Given the description of an element on the screen output the (x, y) to click on. 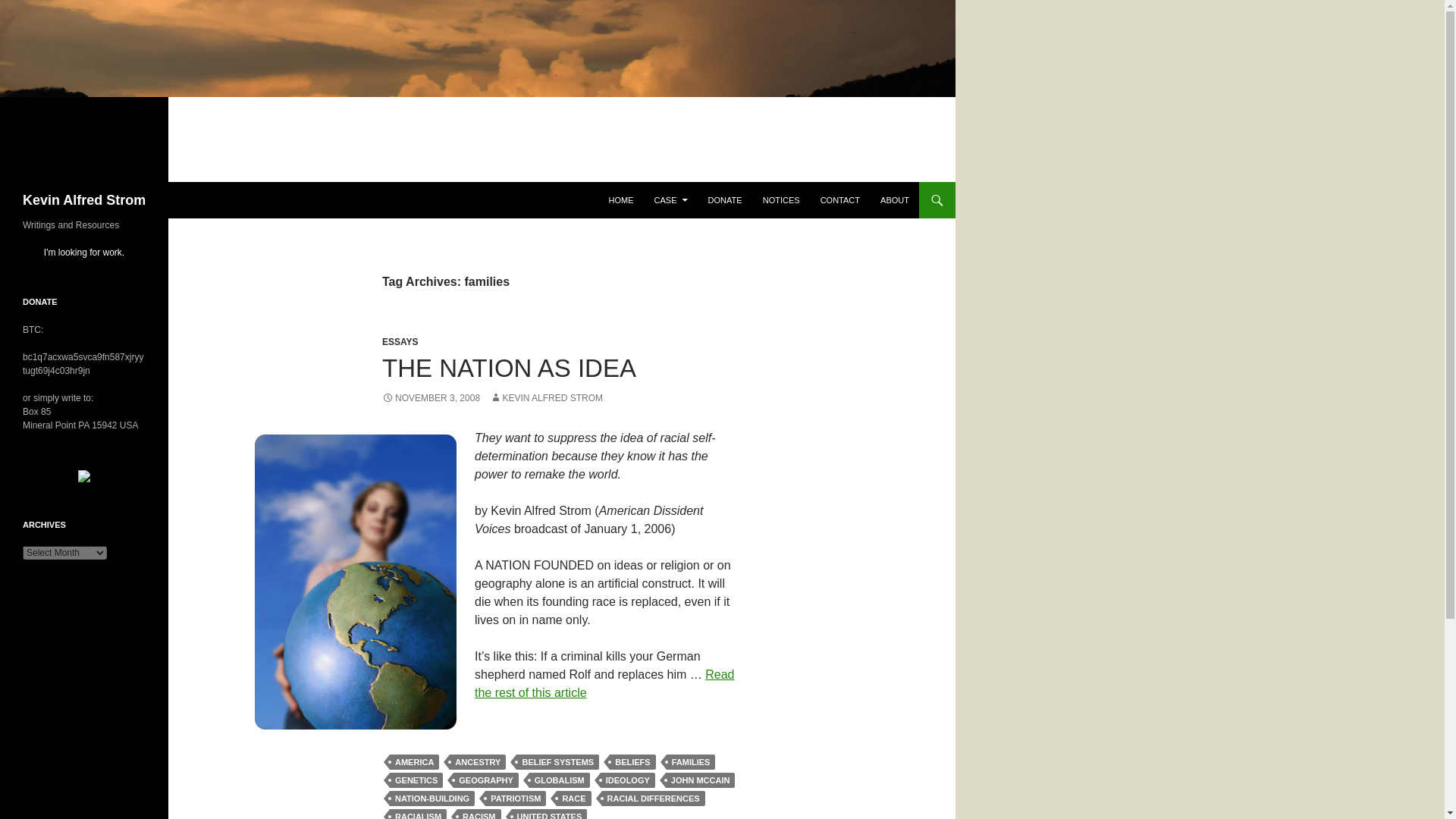
KEVIN ALFRED STROM (545, 398)
GLOBALISM (559, 780)
ANCESTRY (477, 761)
AMERICA (414, 761)
UNITED STATES (548, 814)
RACIALISM (418, 814)
JOHN MCCAIN (700, 780)
NOVEMBER 3, 2008 (430, 398)
BELIEFS (632, 761)
GENETICS (416, 780)
PATRIOTISM (515, 798)
IDEOLOGY (627, 780)
THE NATION AS IDEA (508, 367)
BELIEF SYSTEMS (557, 761)
